Given the description of an element on the screen output the (x, y) to click on. 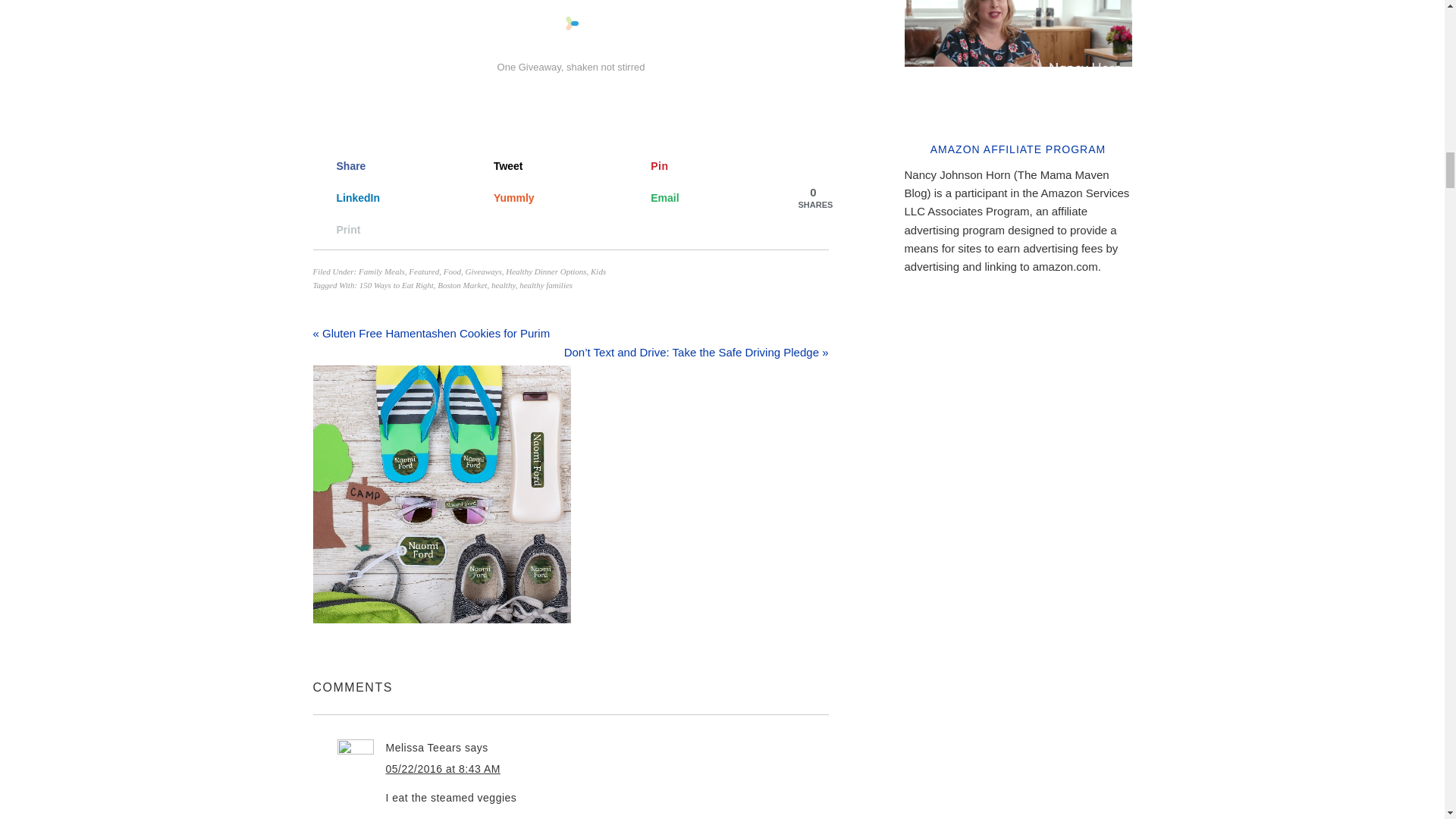
Share on Facebook (386, 165)
Save to Pinterest (700, 165)
Send over email (700, 197)
Print this webpage (386, 229)
Share on X (543, 165)
Share on Yummly (543, 197)
Share on LinkedIn (386, 197)
